Given the description of an element on the screen output the (x, y) to click on. 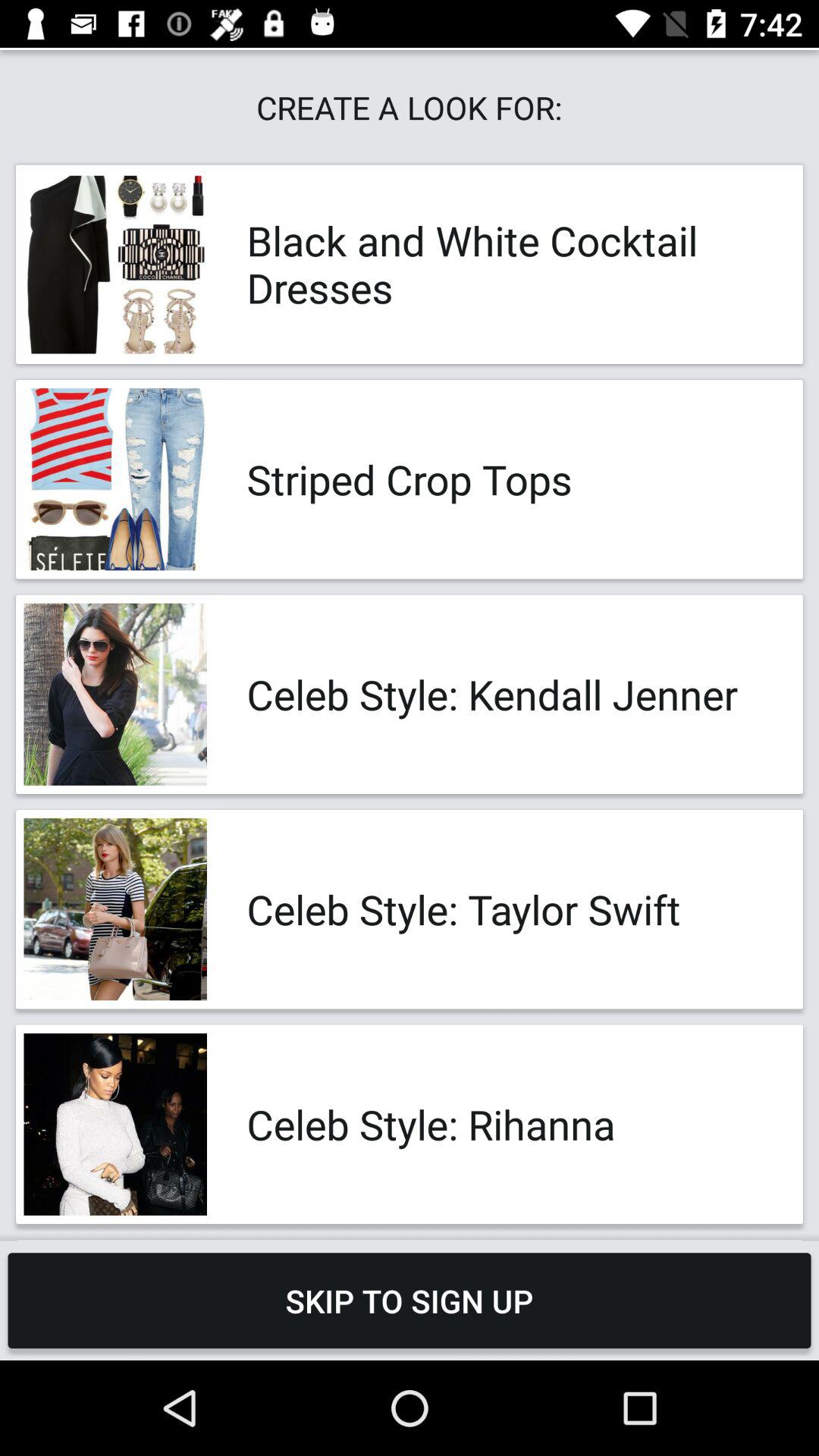
flip until the black and white icon (508, 264)
